Given the description of an element on the screen output the (x, y) to click on. 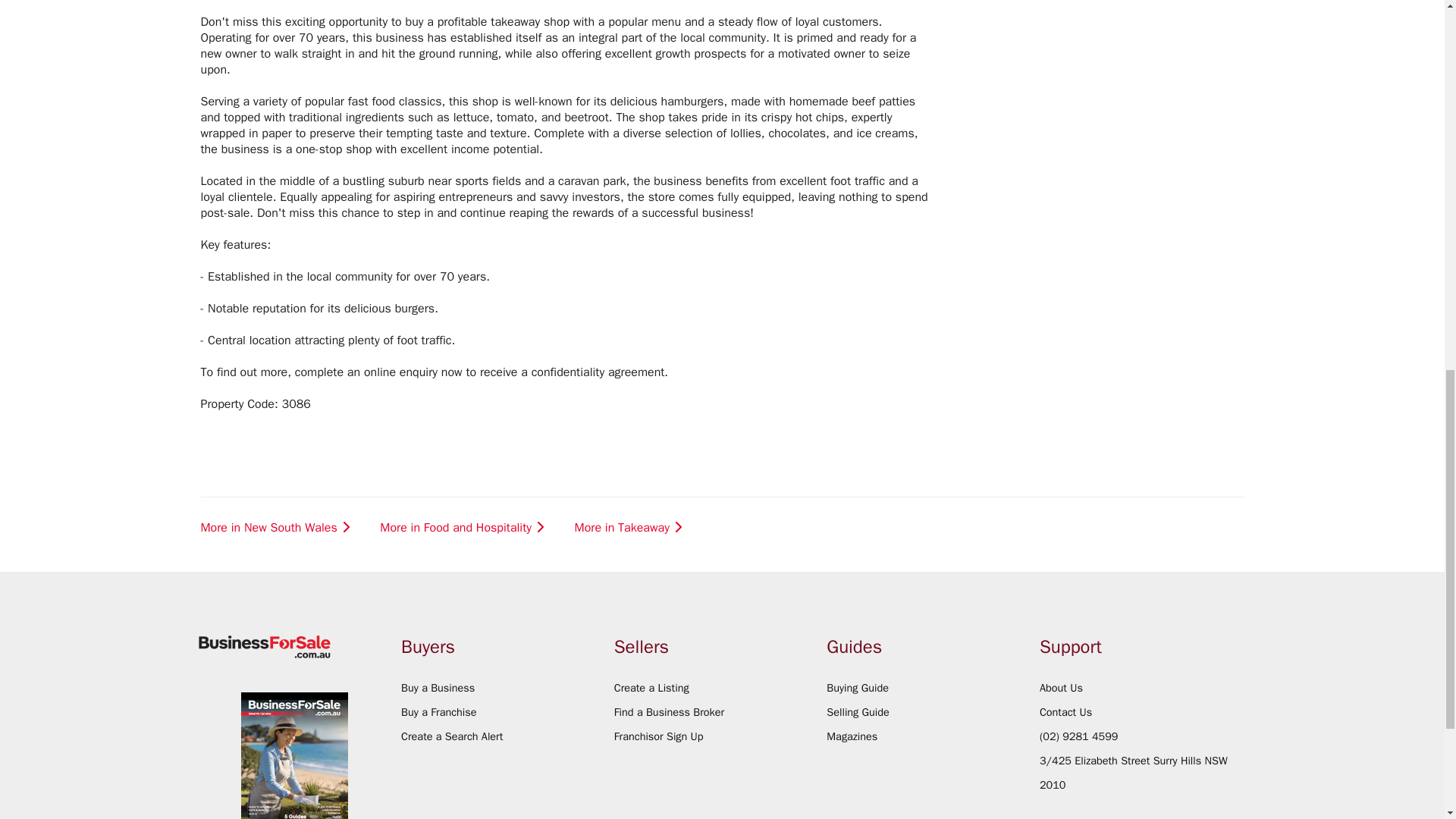
More in New South Wales (276, 528)
More in Takeaway (630, 528)
More in Food and Hospitality (463, 528)
